Given the description of an element on the screen output the (x, y) to click on. 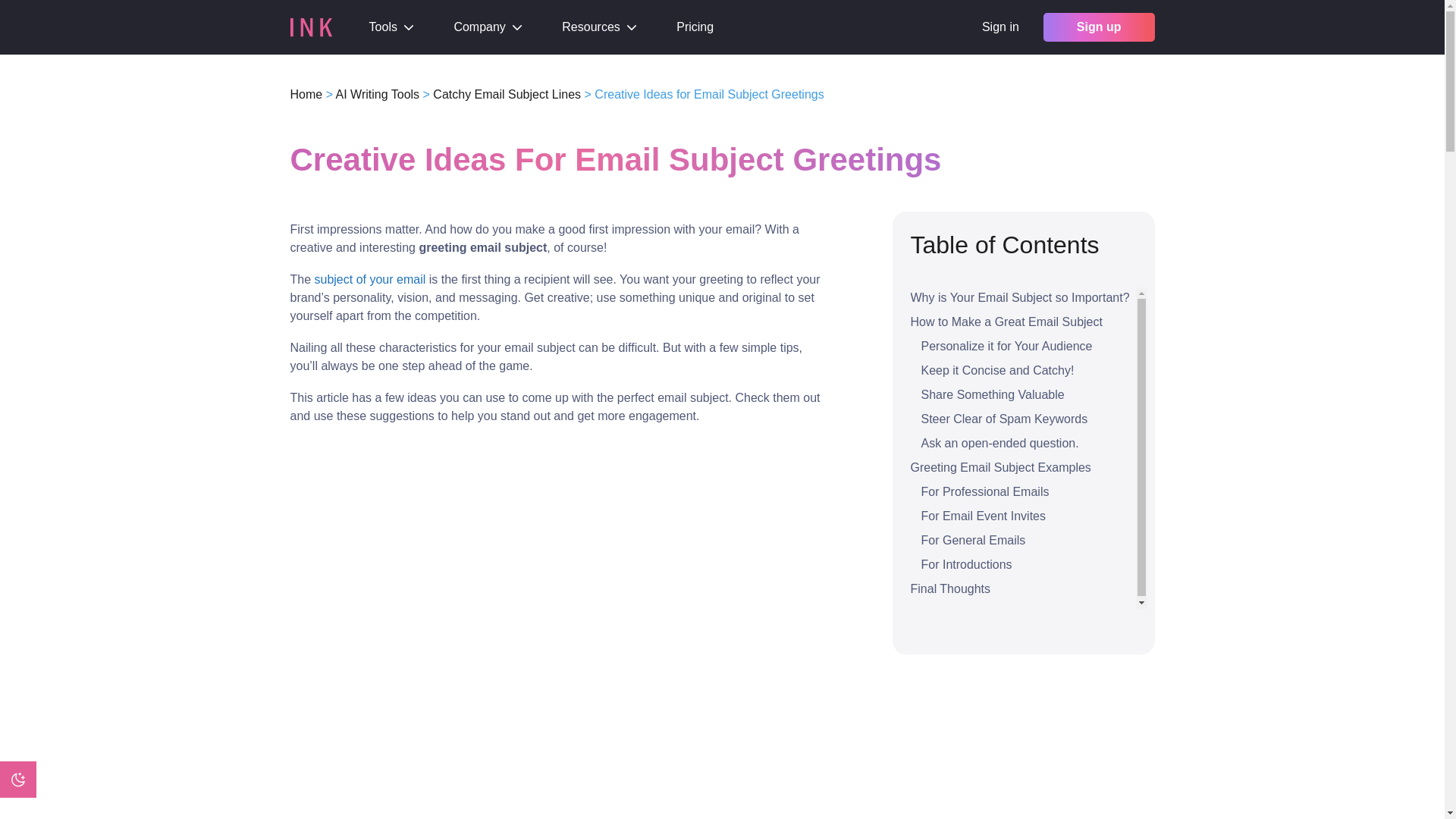
Sign in (1000, 27)
Pricing (694, 27)
Sign up (1098, 27)
